Given the description of an element on the screen output the (x, y) to click on. 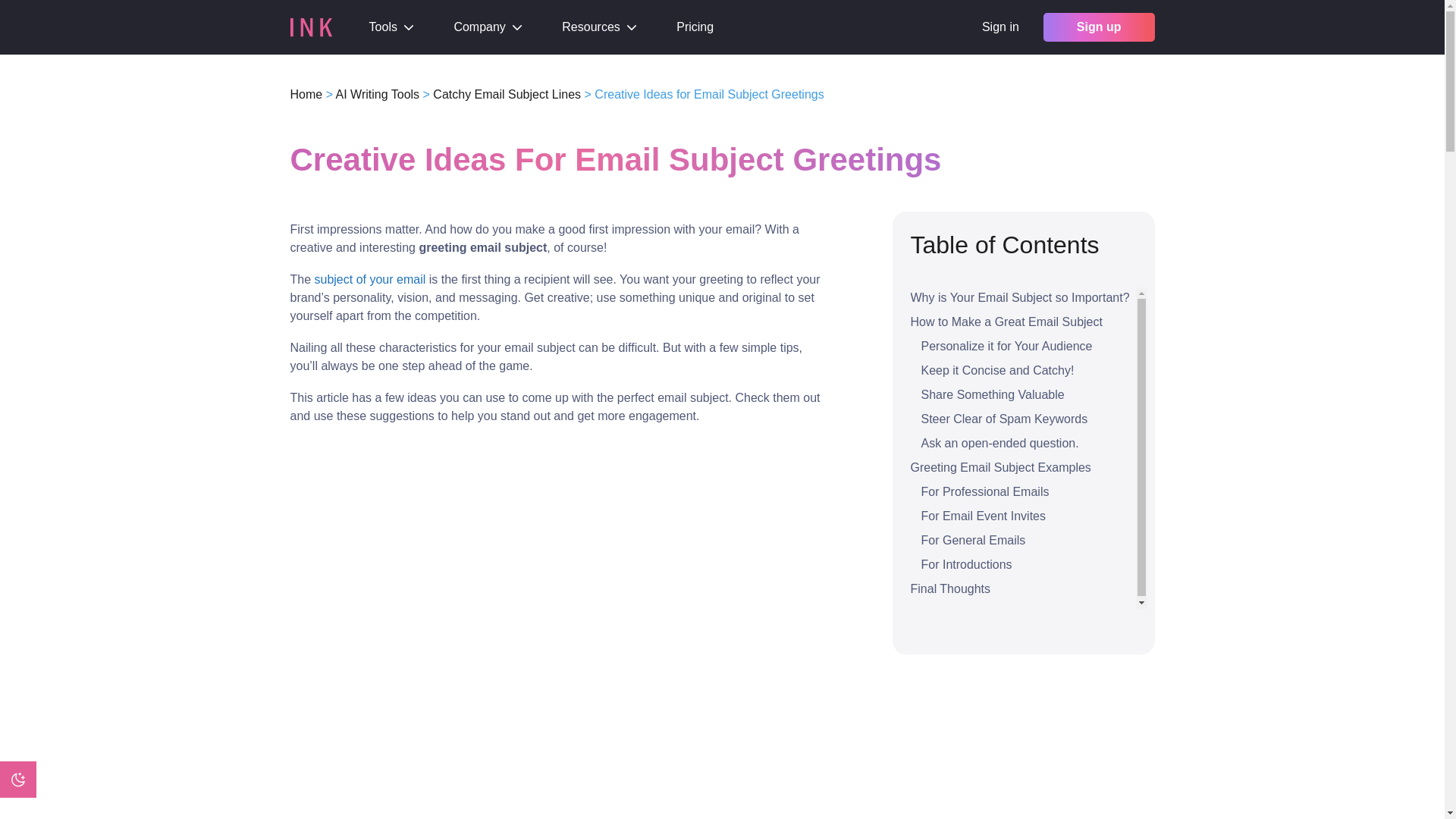
Sign in (1000, 27)
Pricing (694, 27)
Sign up (1098, 27)
